Given the description of an element on the screen output the (x, y) to click on. 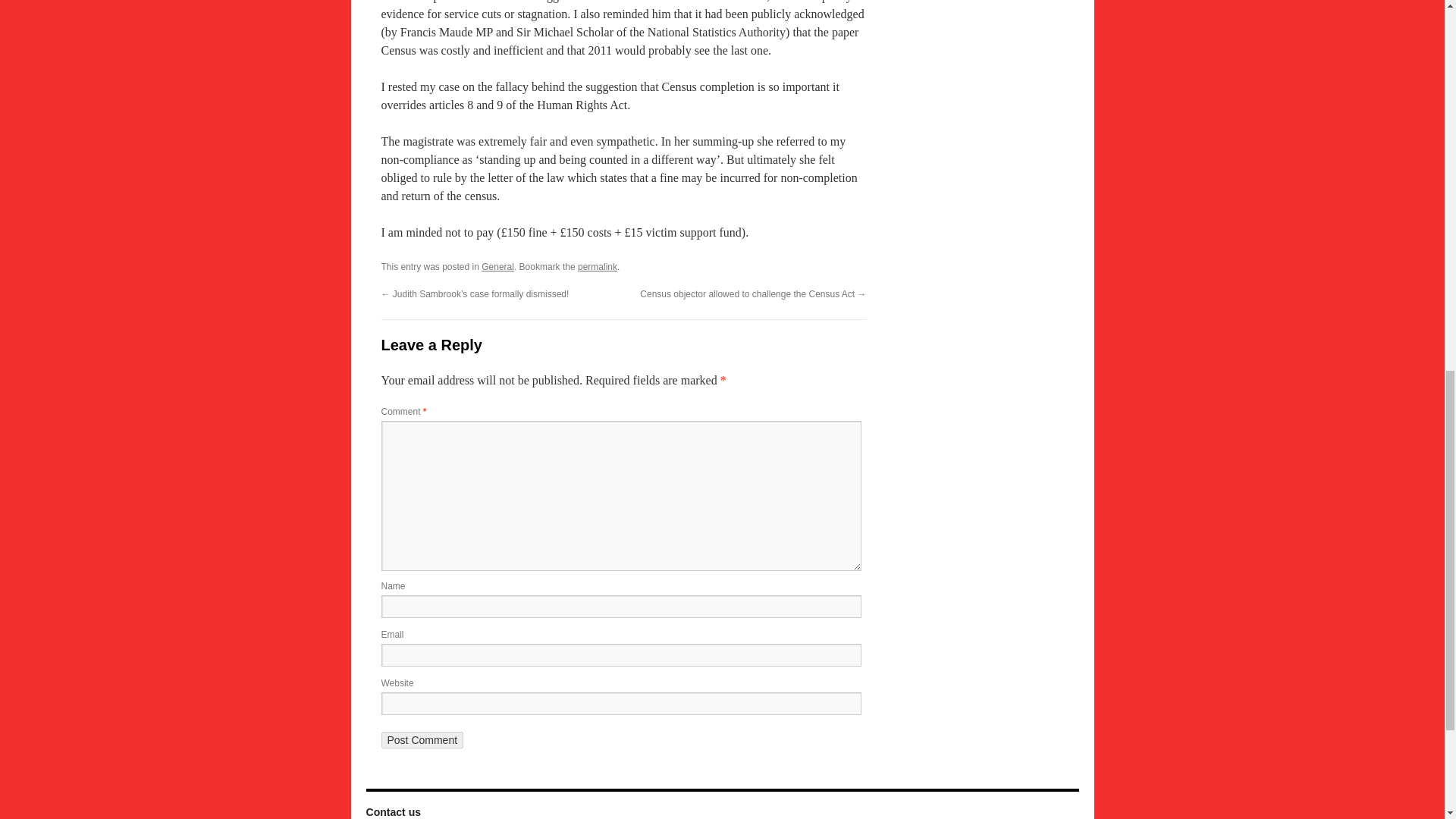
General (497, 266)
permalink (597, 266)
Post Comment (421, 740)
Post Comment (421, 740)
